Given the description of an element on the screen output the (x, y) to click on. 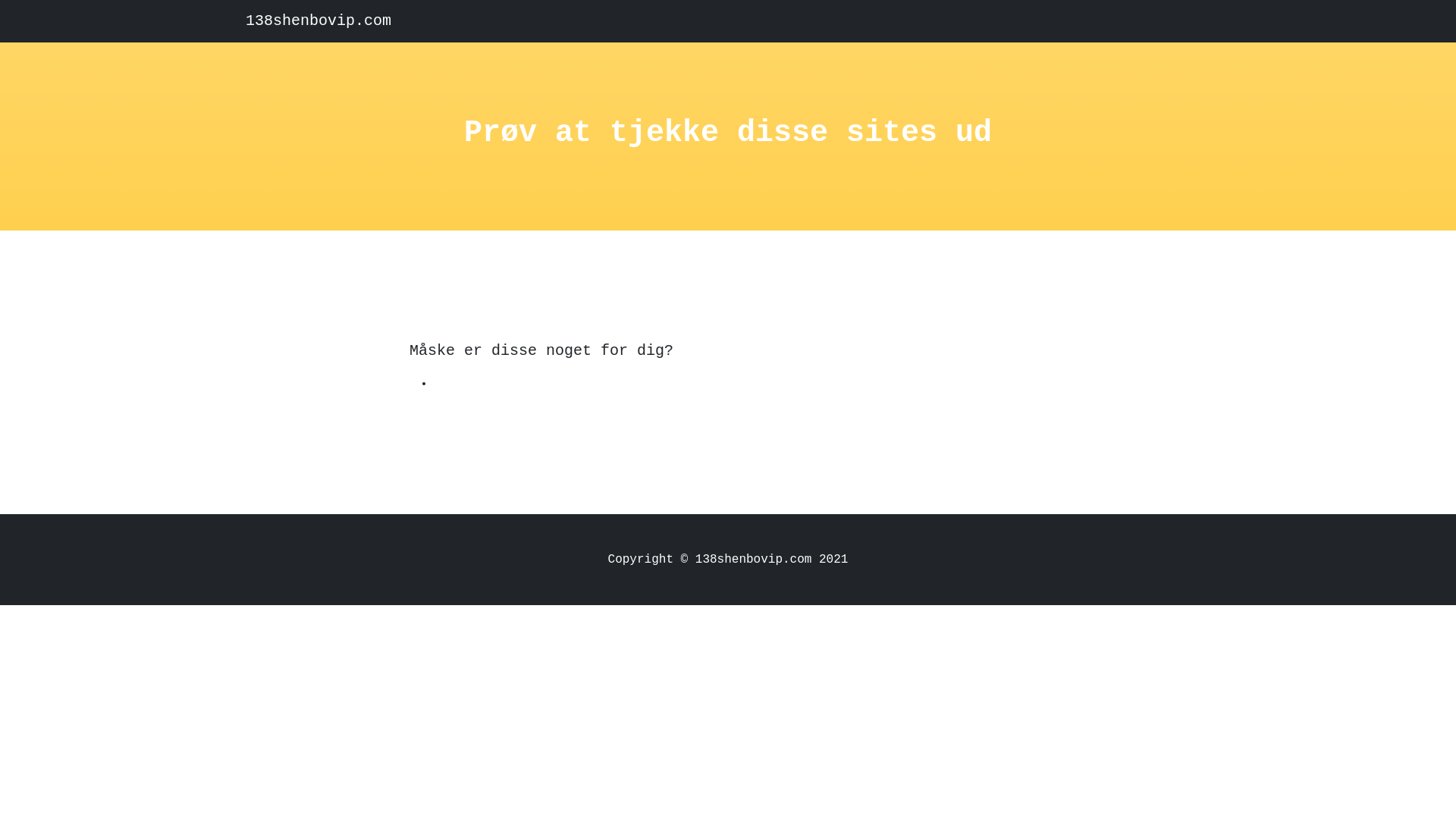
138shenbovip.com Element type: text (318, 21)
